Given the description of an element on the screen output the (x, y) to click on. 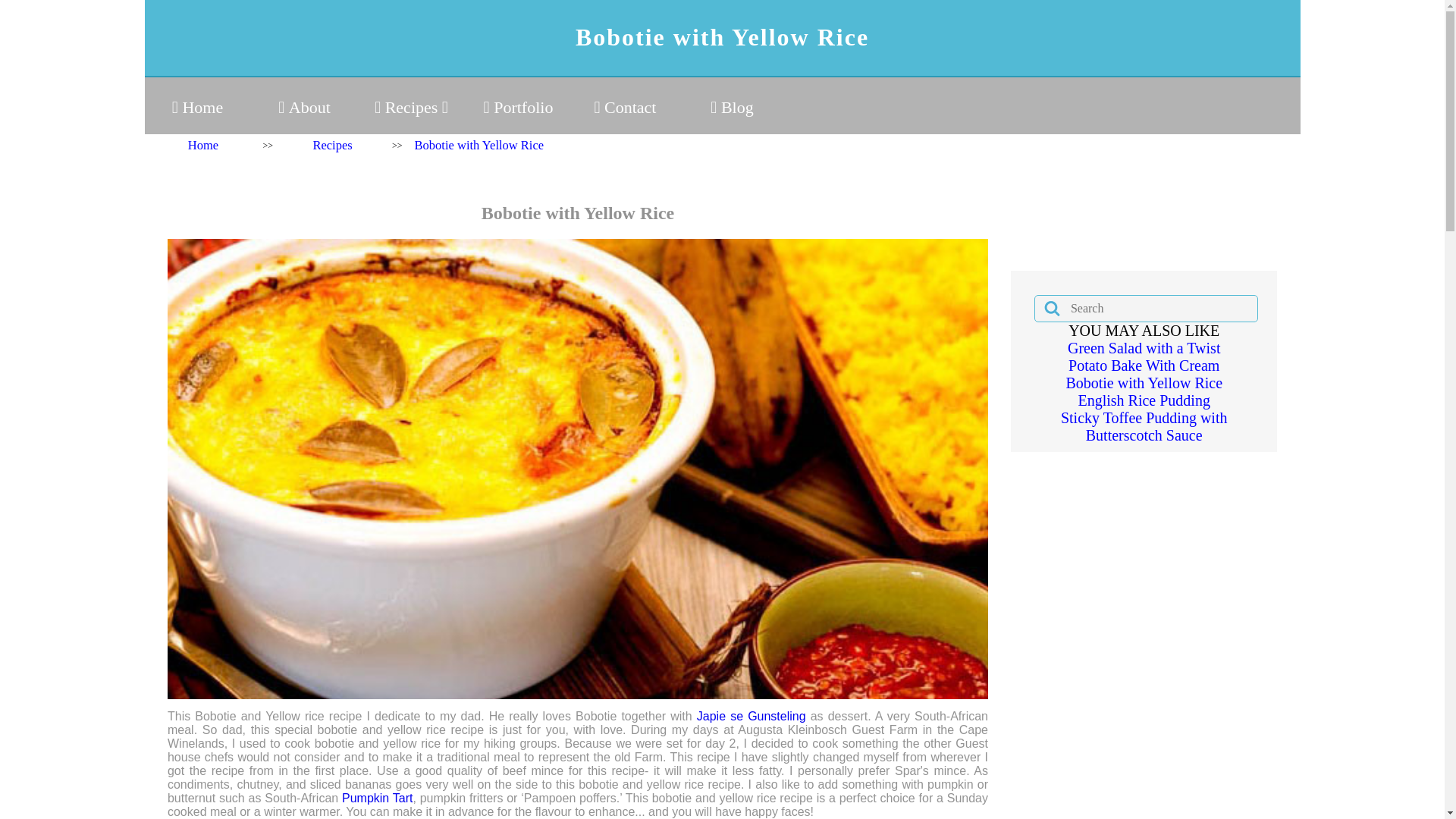
the smokingchimney.com home page (197, 145)
view my portfolio (518, 107)
get in touch (625, 107)
go to the home page (197, 107)
about (473, 145)
view or search for all my recipes (411, 107)
about (326, 145)
view my articles and read stories (732, 107)
About (304, 107)
Recipes (411, 107)
Home (197, 107)
find out more about me (304, 107)
